Given the description of an element on the screen output the (x, y) to click on. 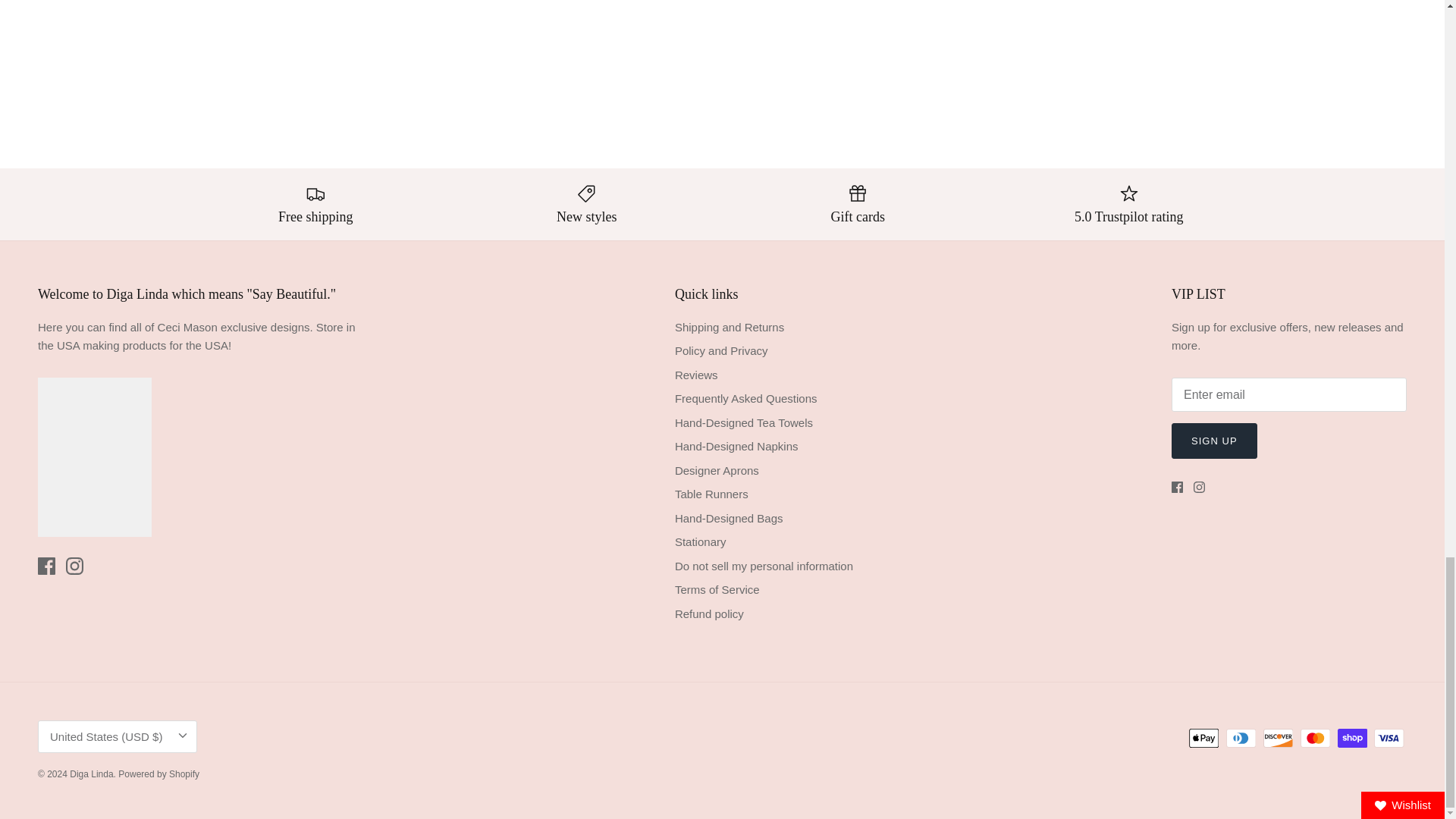
Instagram (73, 565)
Apple Pay (1203, 737)
Facebook (1177, 487)
Instagram (1199, 487)
Facebook (46, 565)
